Given the description of an element on the screen output the (x, y) to click on. 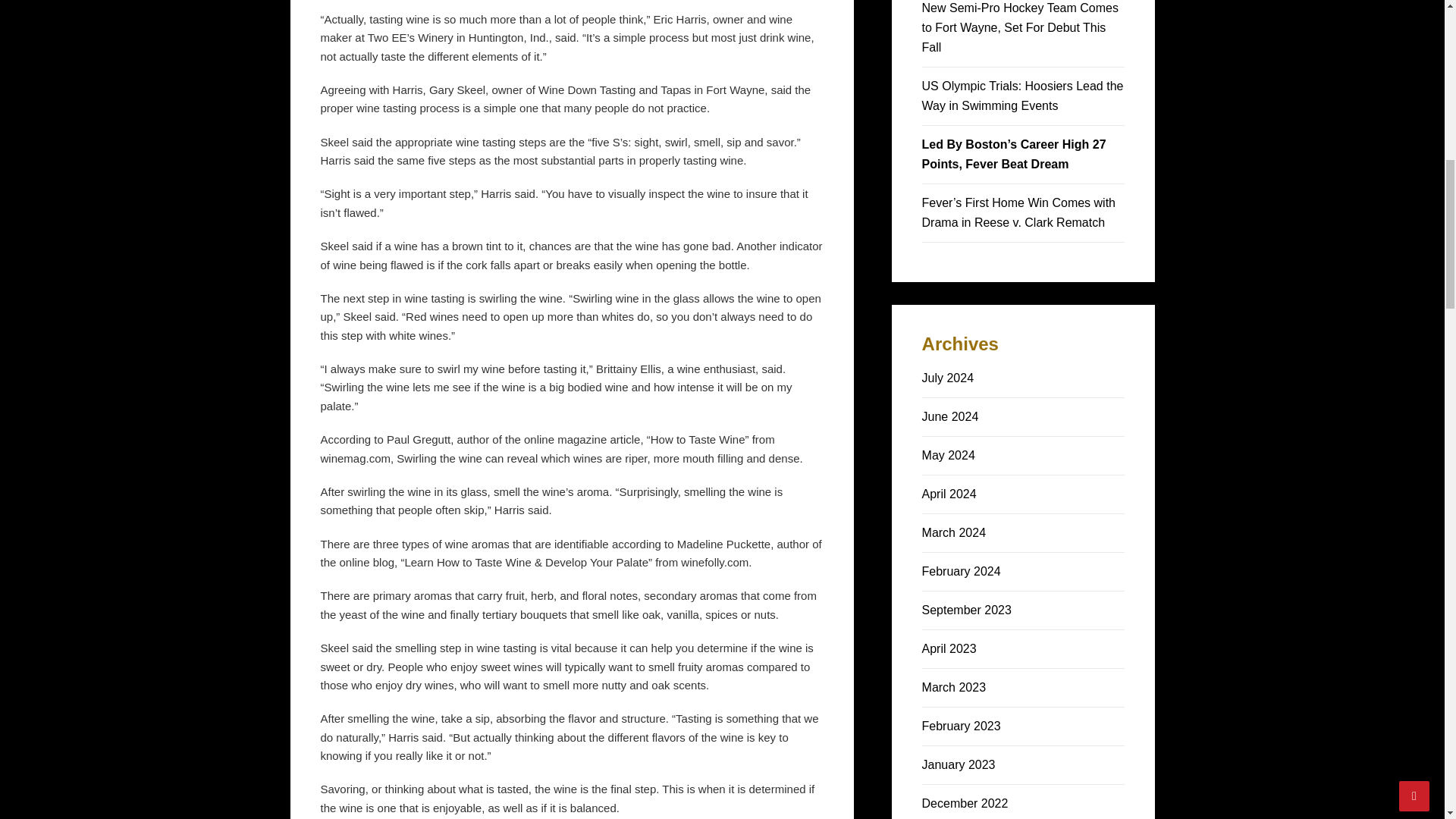
February 2023 (961, 725)
May 2024 (948, 454)
US Olympic Trials: Hoosiers Lead the Way in Swimming Events (1022, 95)
March 2024 (954, 532)
February 2024 (961, 571)
September 2023 (966, 609)
March 2023 (954, 686)
April 2023 (948, 648)
June 2024 (949, 416)
